Given the description of an element on the screen output the (x, y) to click on. 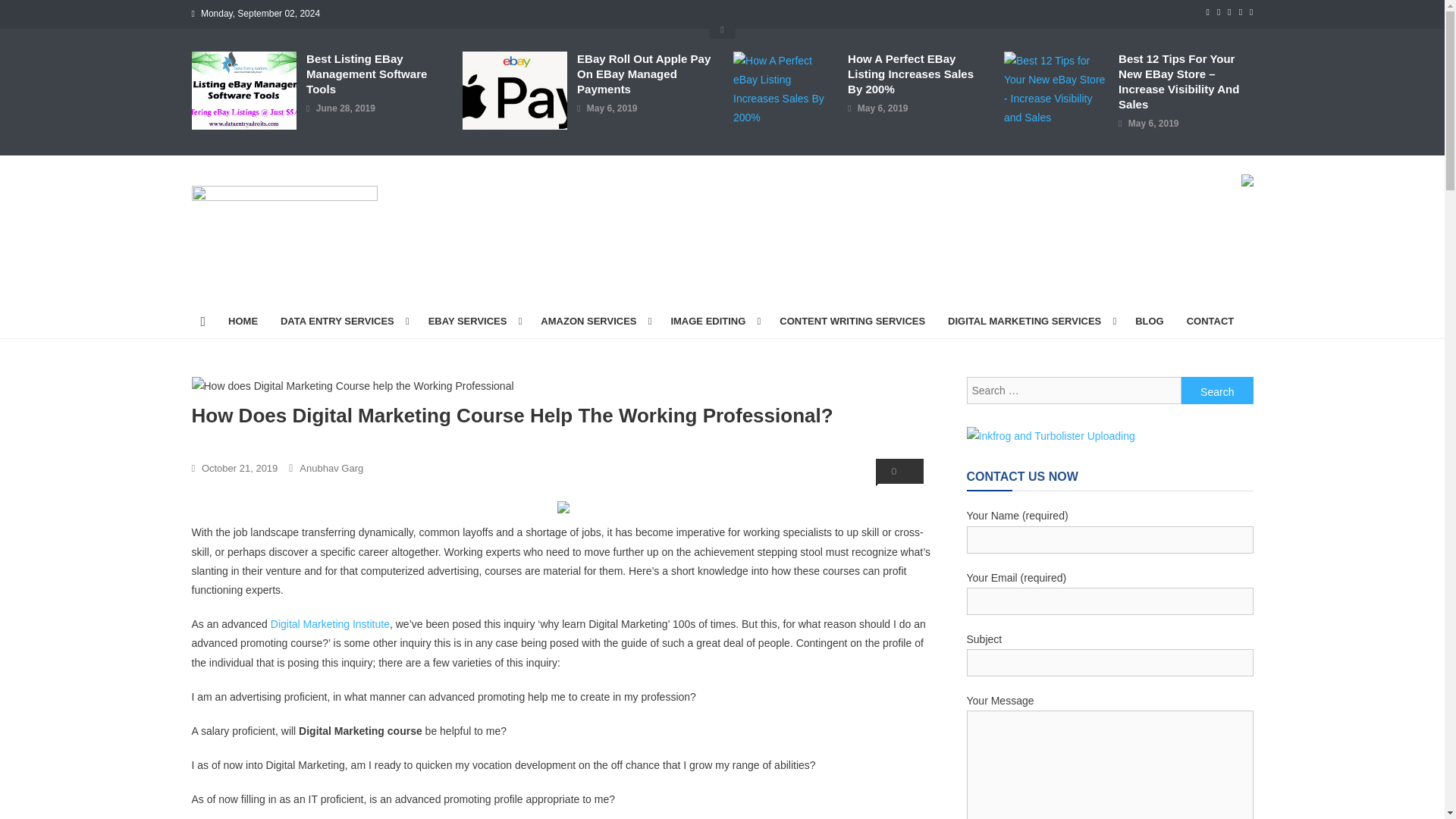
May 6, 2019 (611, 108)
SEO Per Hour Cost - SEOServiceinIndia (562, 505)
Feature Posts (722, 29)
HOME (242, 321)
SEO Per Hour Cost - SEOServiceinIndia (1246, 179)
June 28, 2019 (345, 108)
Search (1216, 390)
EBay Roll Out Apple Pay On EBay Managed Payments (643, 74)
May 6, 2019 (882, 108)
EBAY SERVICES (472, 321)
